Given the description of an element on the screen output the (x, y) to click on. 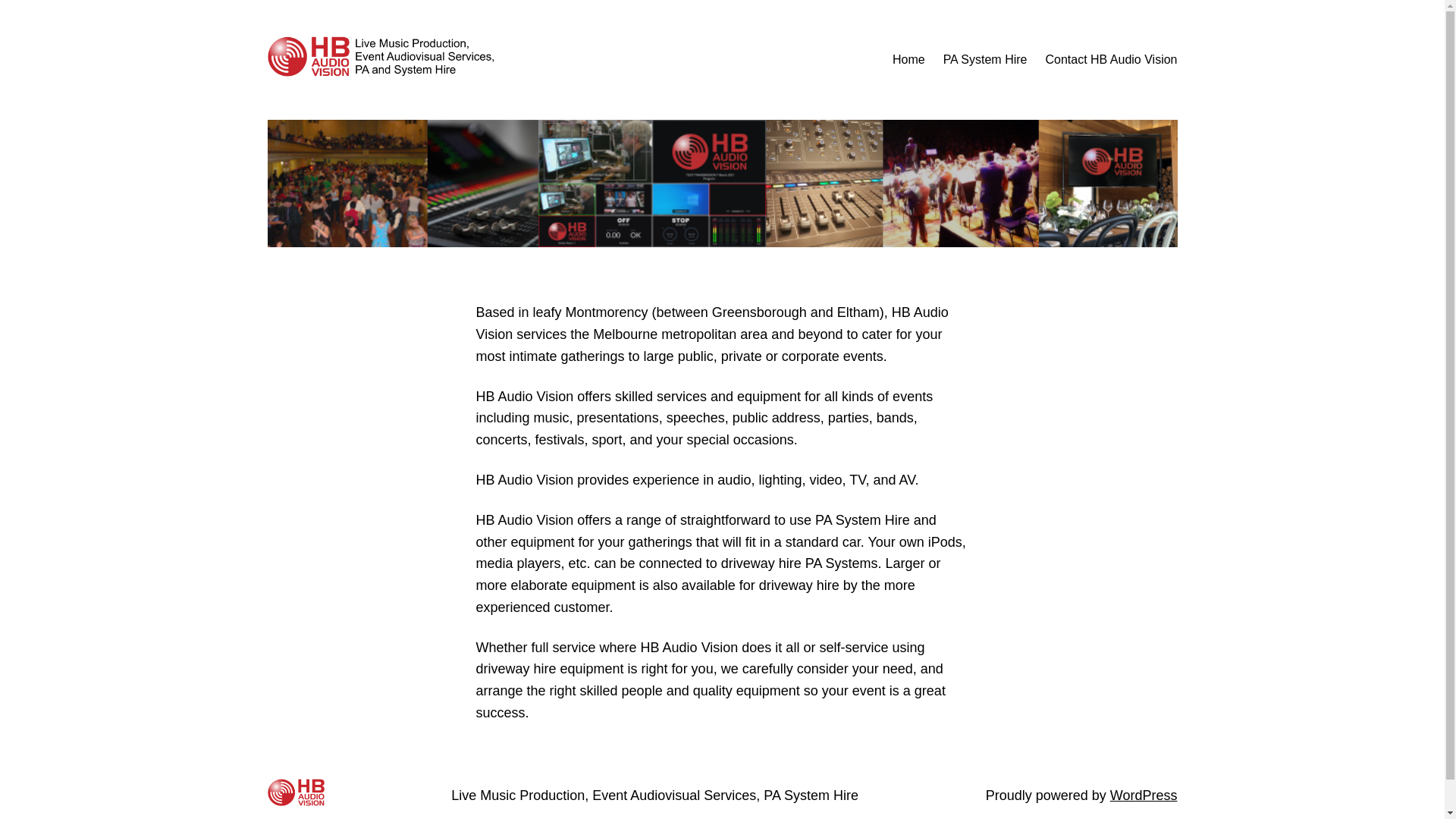
WordPress Element type: text (1143, 795)
Contact HB Audio Vision Element type: text (1110, 59)
PA System Hire Element type: text (985, 59)
Home Element type: text (908, 59)
